Given the description of an element on the screen output the (x, y) to click on. 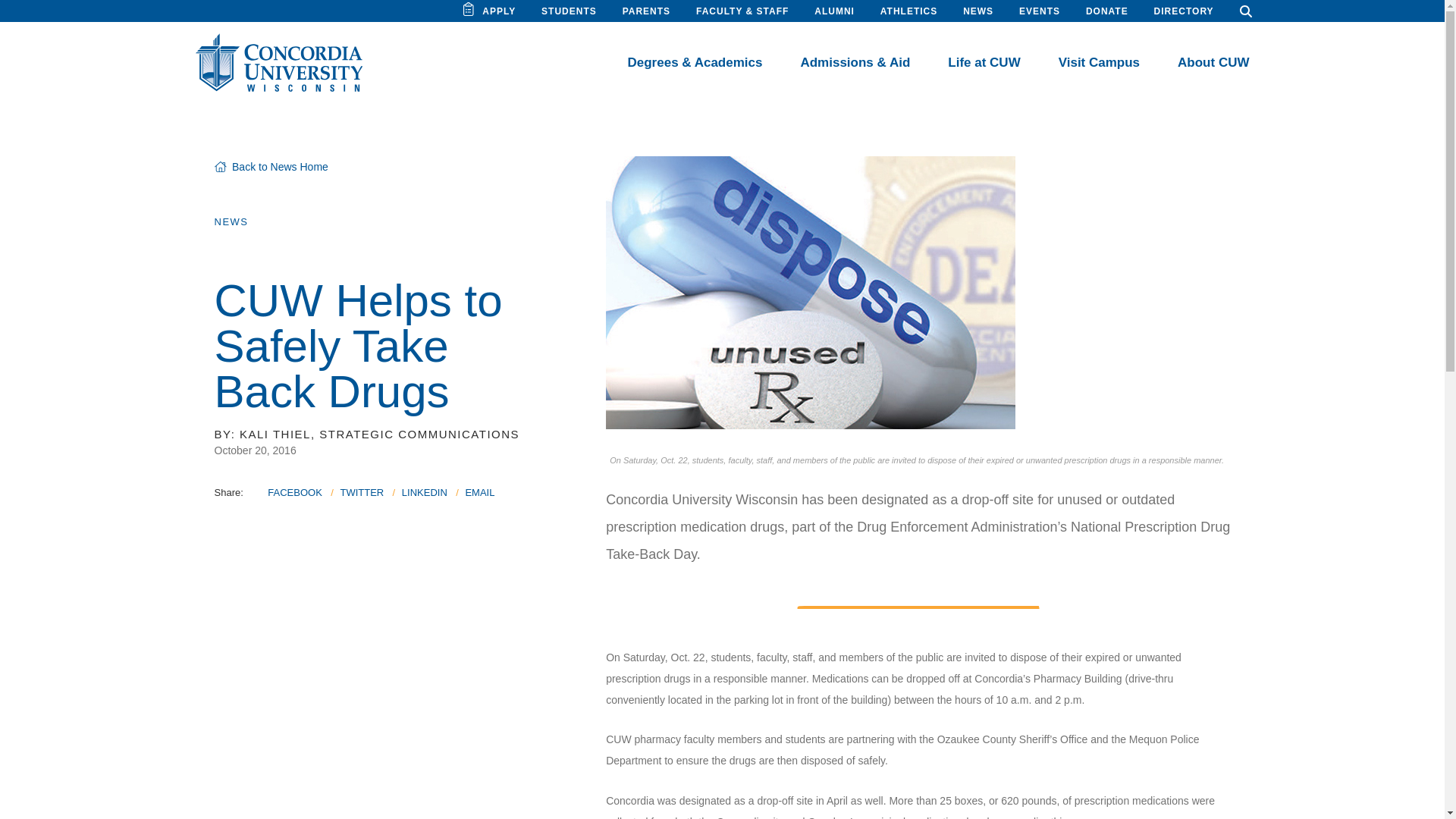
  Back to News Home (270, 166)
ALUMNI (833, 11)
PARENTS (646, 11)
Life at CUW (983, 62)
DIRECTORY (1184, 11)
DONATE (1107, 11)
FACEBOOK (294, 491)
NEWS (977, 11)
NEWS (230, 220)
EVENTS (1039, 11)
LINKEDIN (423, 491)
EMAIL (479, 491)
APPLY (498, 11)
BY: KALI THIEL, STRATEGIC COMMUNICATIONS (366, 433)
STUDENTS (568, 11)
